Given the description of an element on the screen output the (x, y) to click on. 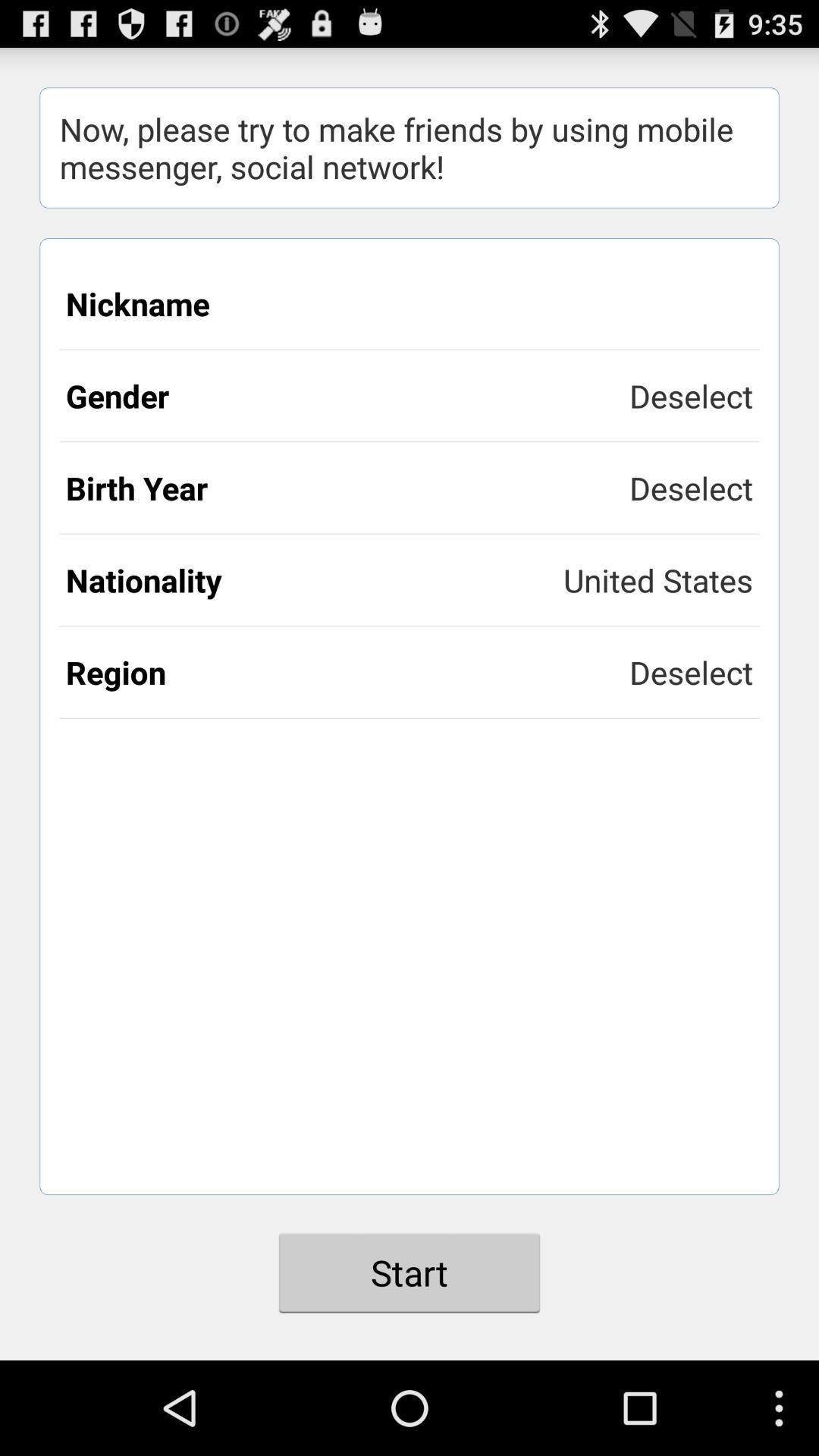
turn on the item below the birth year app (658, 579)
